Given the description of an element on the screen output the (x, y) to click on. 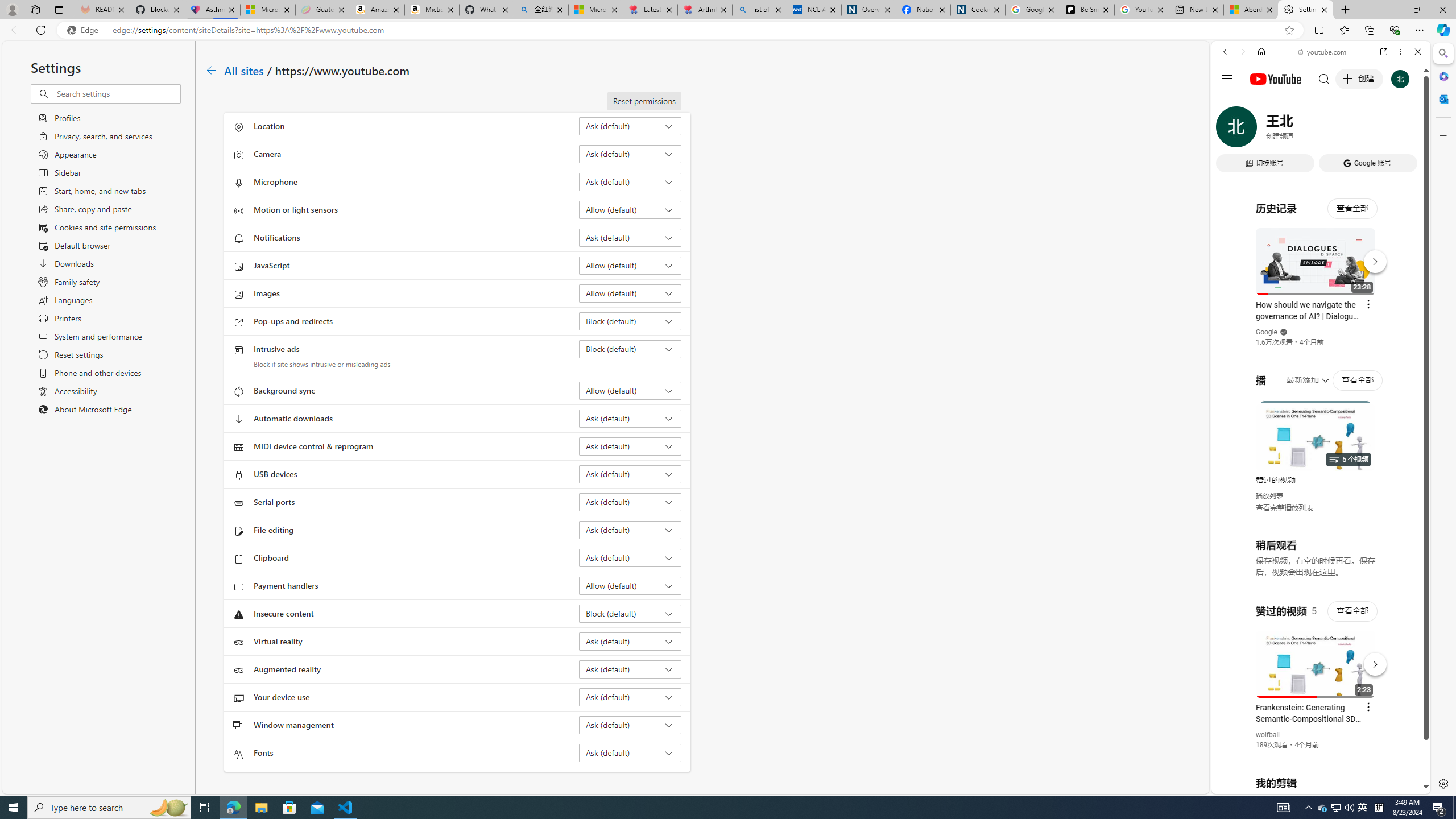
Images Allow (default) (630, 293)
Pop-ups and redirects Block (default) (630, 321)
Search settings (117, 93)
NCL Adult Asthma Inhaler Choice Guideline (813, 9)
Intrusive ads Block (default) (630, 348)
This site scope (1259, 102)
